Given the description of an element on the screen output the (x, y) to click on. 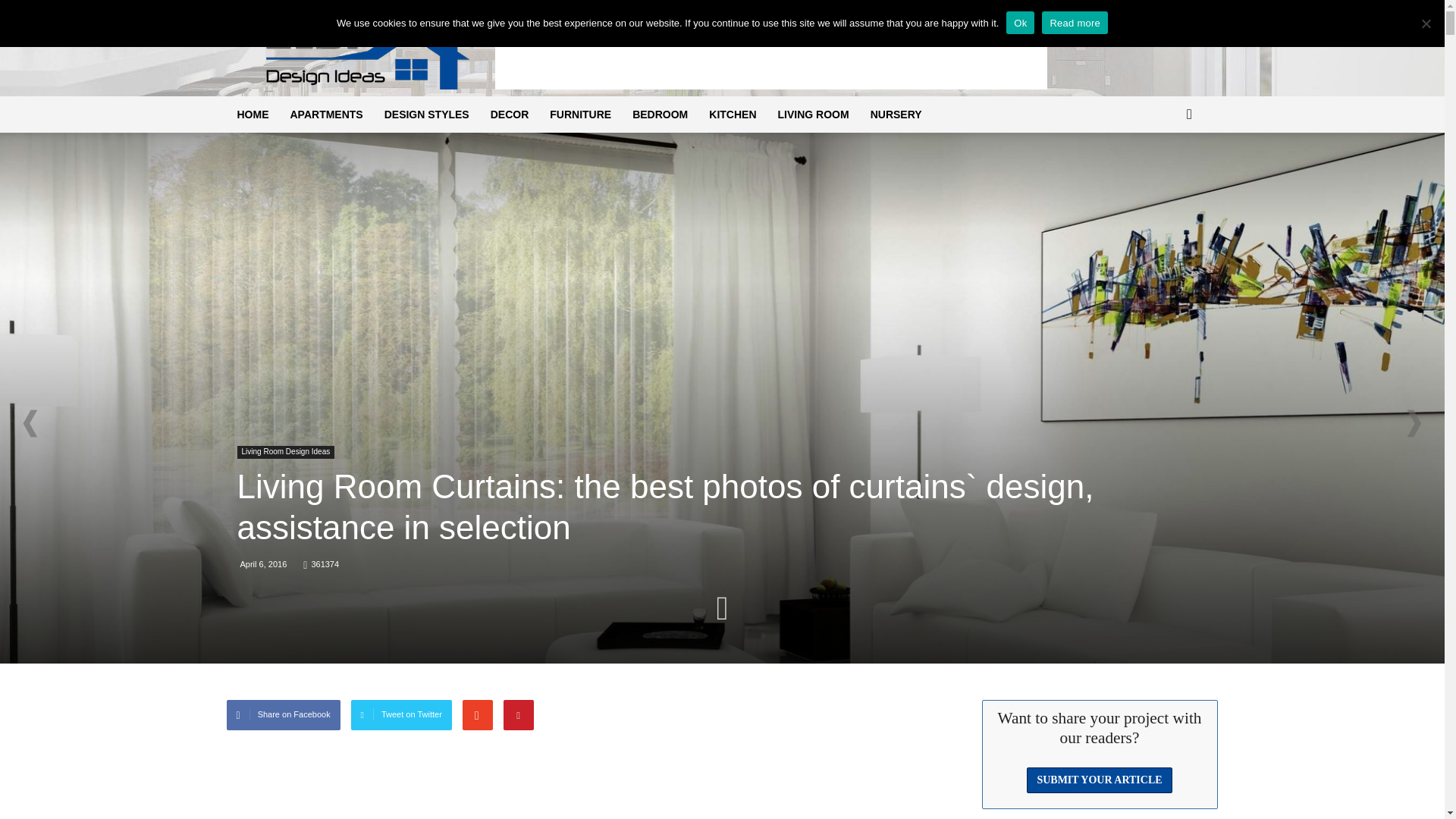
APARTMENTS (325, 114)
Living Room Design Ideas (284, 451)
BEDROOM (659, 114)
Tweet on Twitter (400, 715)
Apartments Design Ideas (325, 114)
LIVING ROOM (813, 114)
DECOR (510, 114)
DESIGN STYLES (427, 114)
KITCHEN (732, 114)
Advertisement (770, 55)
NURSERY (896, 114)
HOME (252, 114)
Share on Facebook (282, 715)
FURNITURE (579, 114)
